Given the description of an element on the screen output the (x, y) to click on. 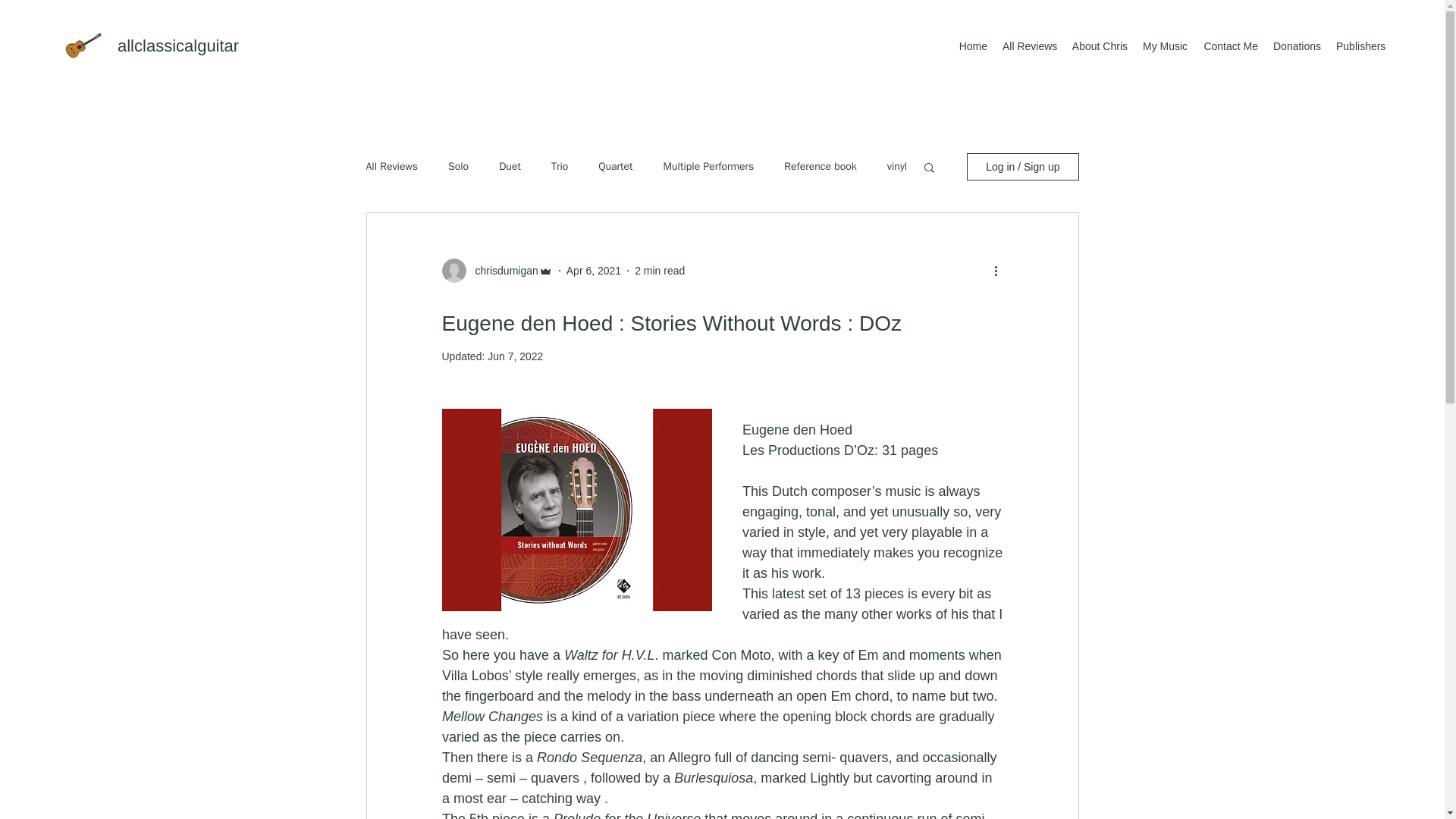
About Chris (1098, 46)
Donations (1296, 46)
Publishers (1359, 46)
Duet (510, 166)
My Music (1164, 46)
chrisdumigan (501, 270)
vinyl (896, 166)
Jun 7, 2022 (515, 356)
All Reviews (1028, 46)
Trio (559, 166)
